Given the description of an element on the screen output the (x, y) to click on. 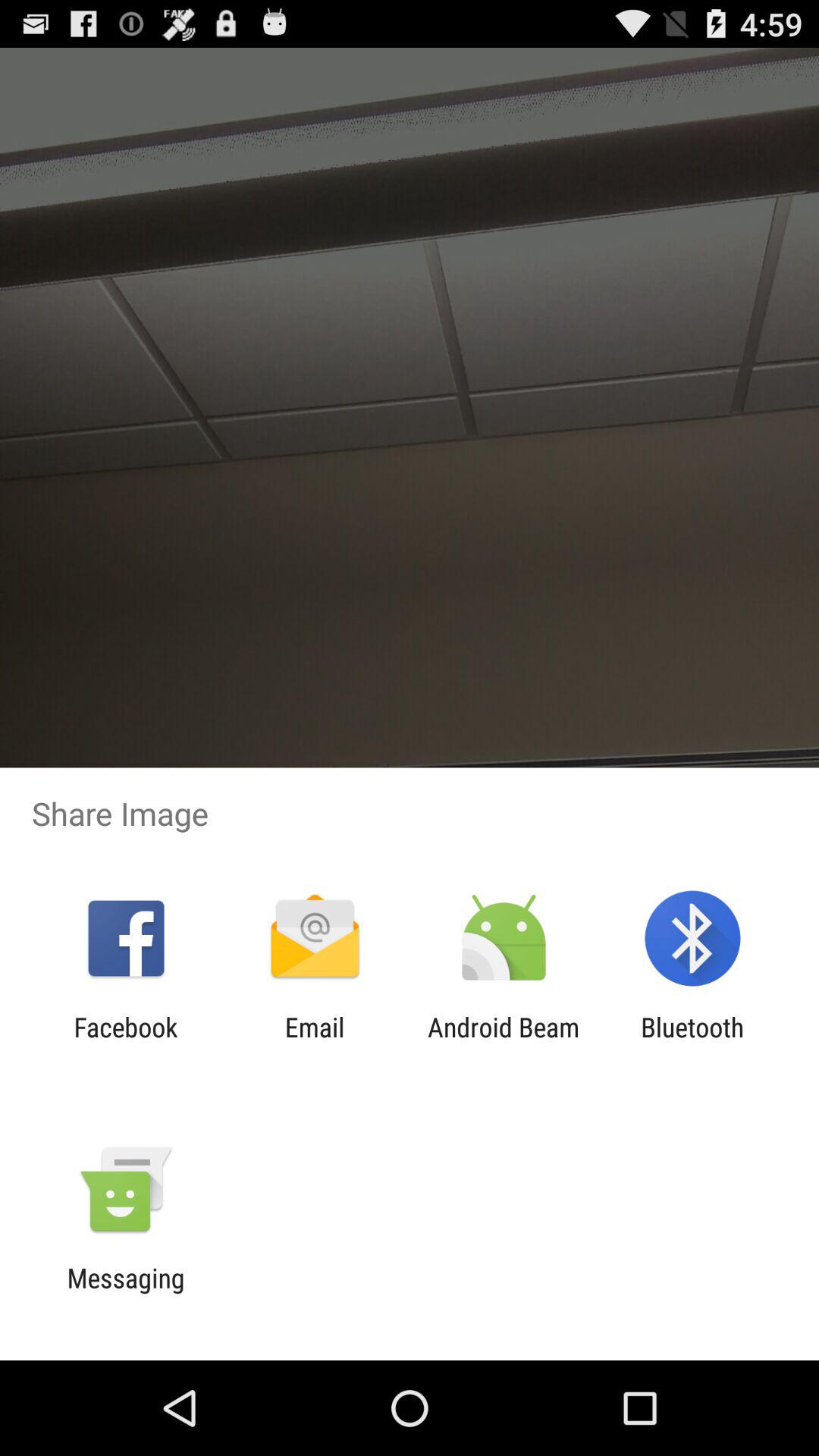
tap icon to the right of the facebook (314, 1042)
